Given the description of an element on the screen output the (x, y) to click on. 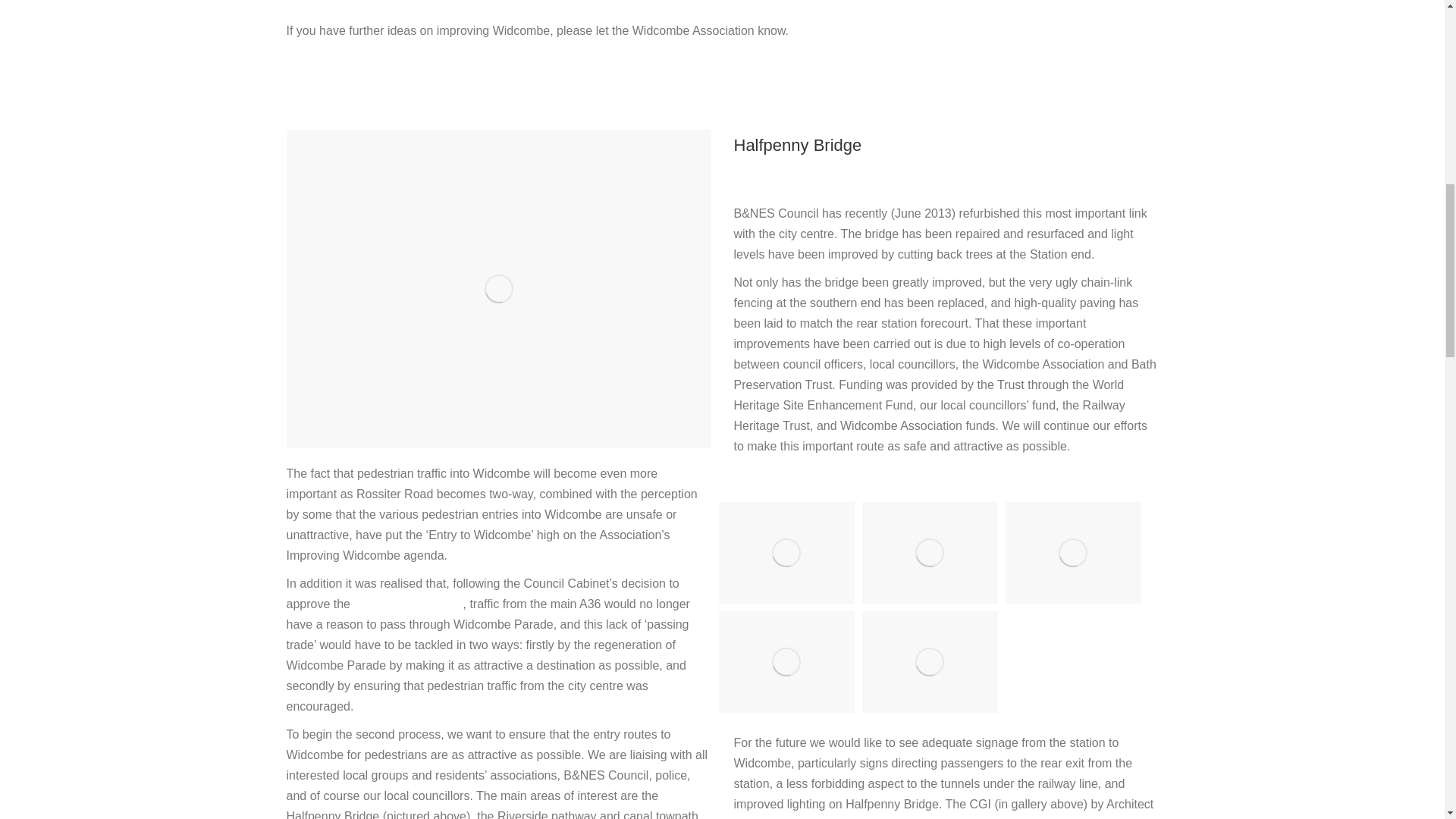
New Railings and Paving 2013 (929, 552)
Bridge 20 June 2013 (786, 552)
Halfpenny Bridge from South side 20-06-2013 12-28-00 (786, 661)
